Given the description of an element on the screen output the (x, y) to click on. 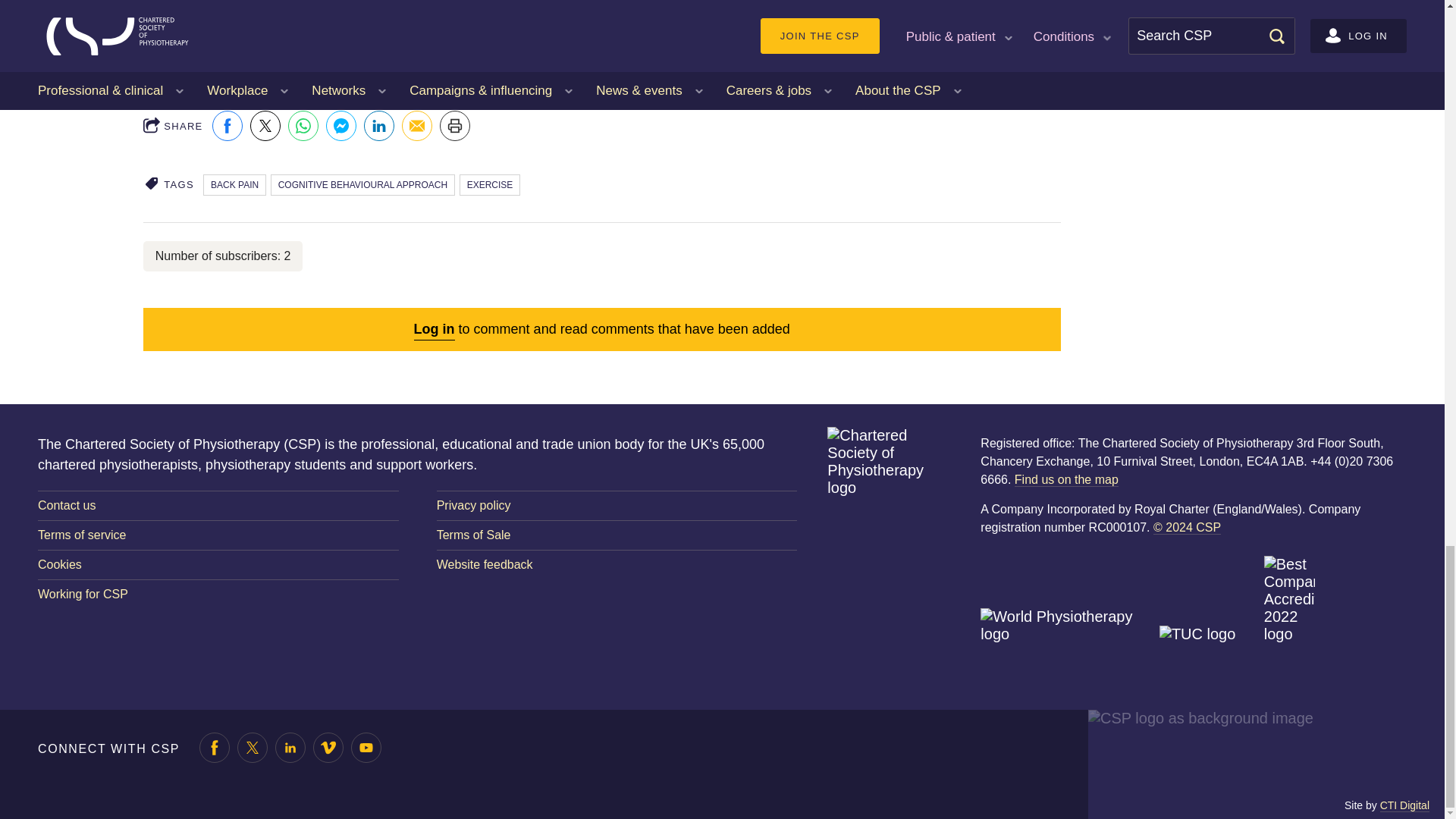
Facebook messenger (341, 125)
Webform for contacting the CSP. (217, 505)
WhatsApp (303, 125)
Email (416, 125)
Facebook (227, 125)
Linkedin (379, 125)
